Given the description of an element on the screen output the (x, y) to click on. 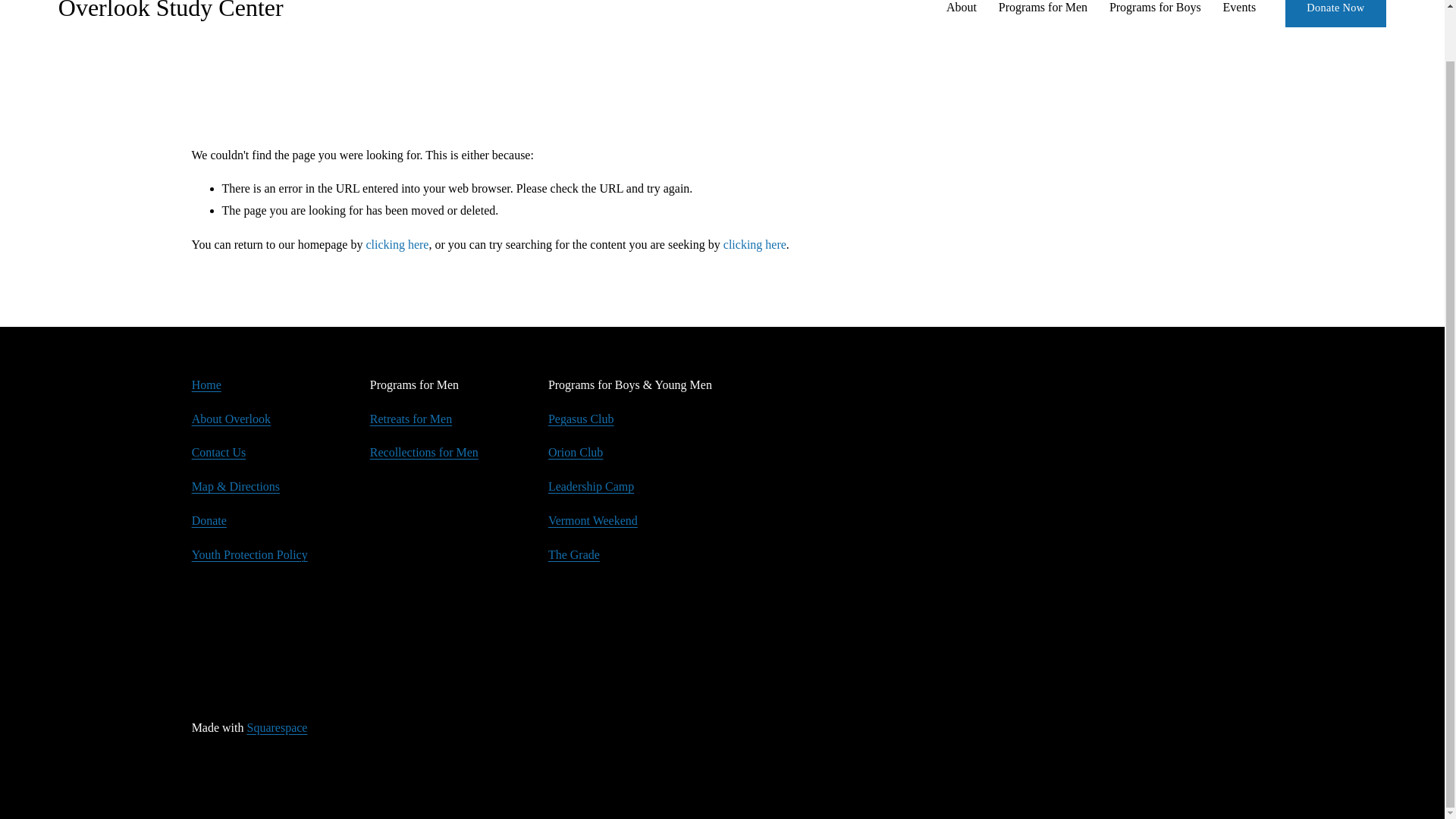
Overlook Study Center (170, 10)
Programs for Men (1042, 9)
Donate Now (1335, 13)
Programs for Boys (1155, 9)
Events (1239, 9)
About (961, 9)
